Given the description of an element on the screen output the (x, y) to click on. 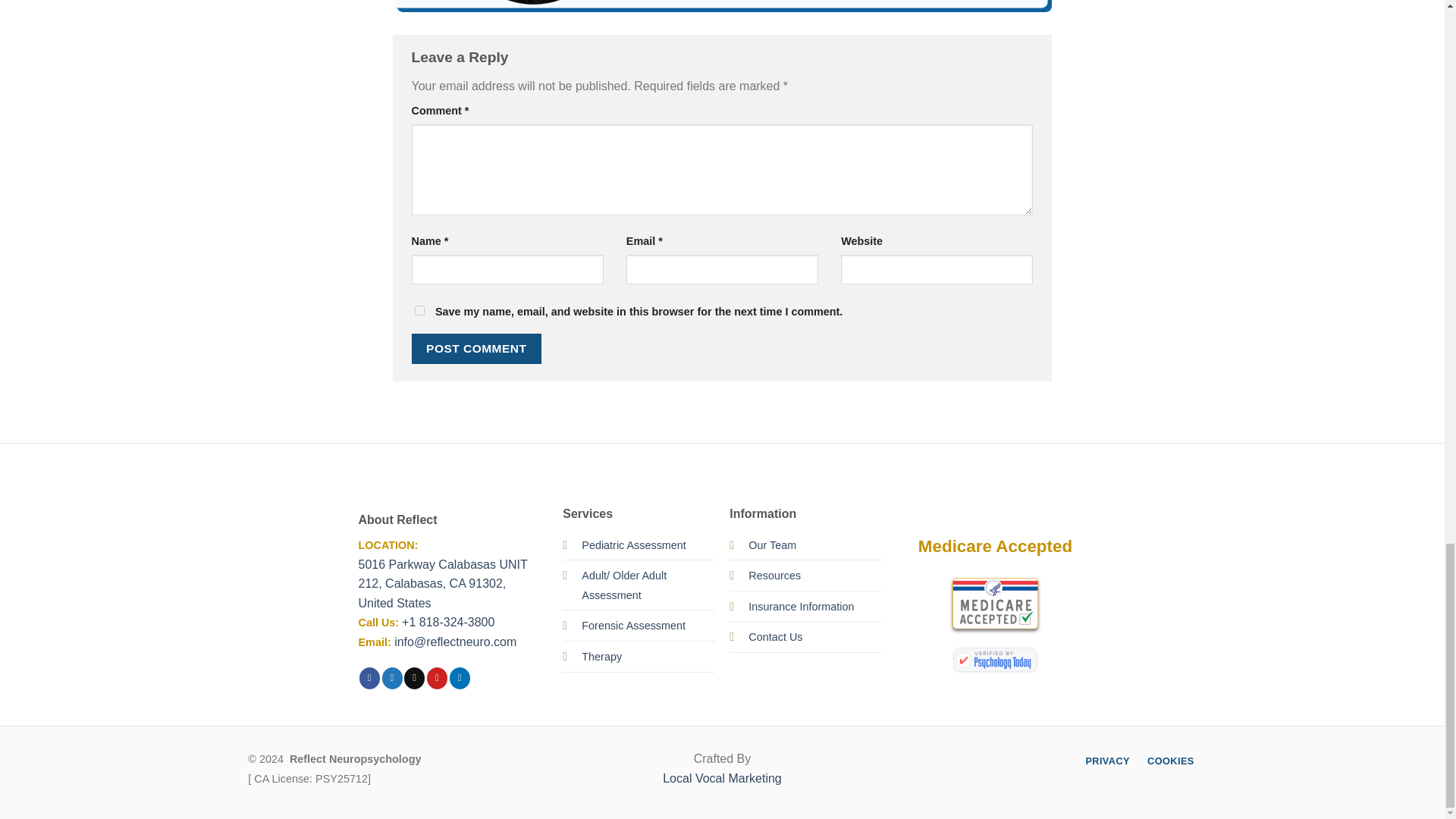
Email to a Friend (414, 677)
yes (418, 310)
Post Comment (475, 348)
Pin on Pinterest (436, 677)
Share on Twitter (392, 677)
Post Comment (475, 348)
Share on Facebook (369, 677)
Share on LinkedIn (459, 677)
